Given the description of an element on the screen output the (x, y) to click on. 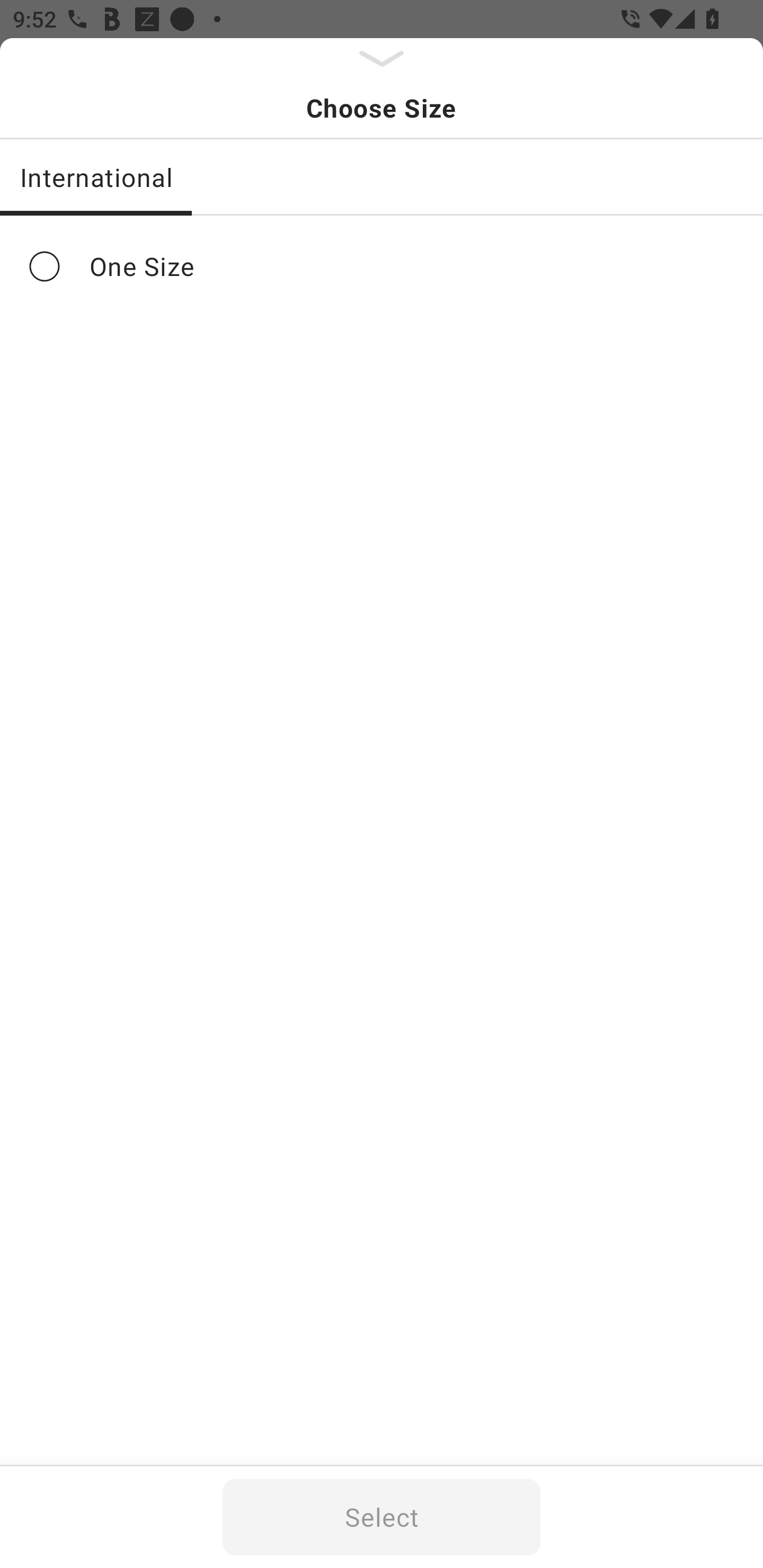
One Size (381, 266)
Select (381, 1516)
